Given the description of an element on the screen output the (x, y) to click on. 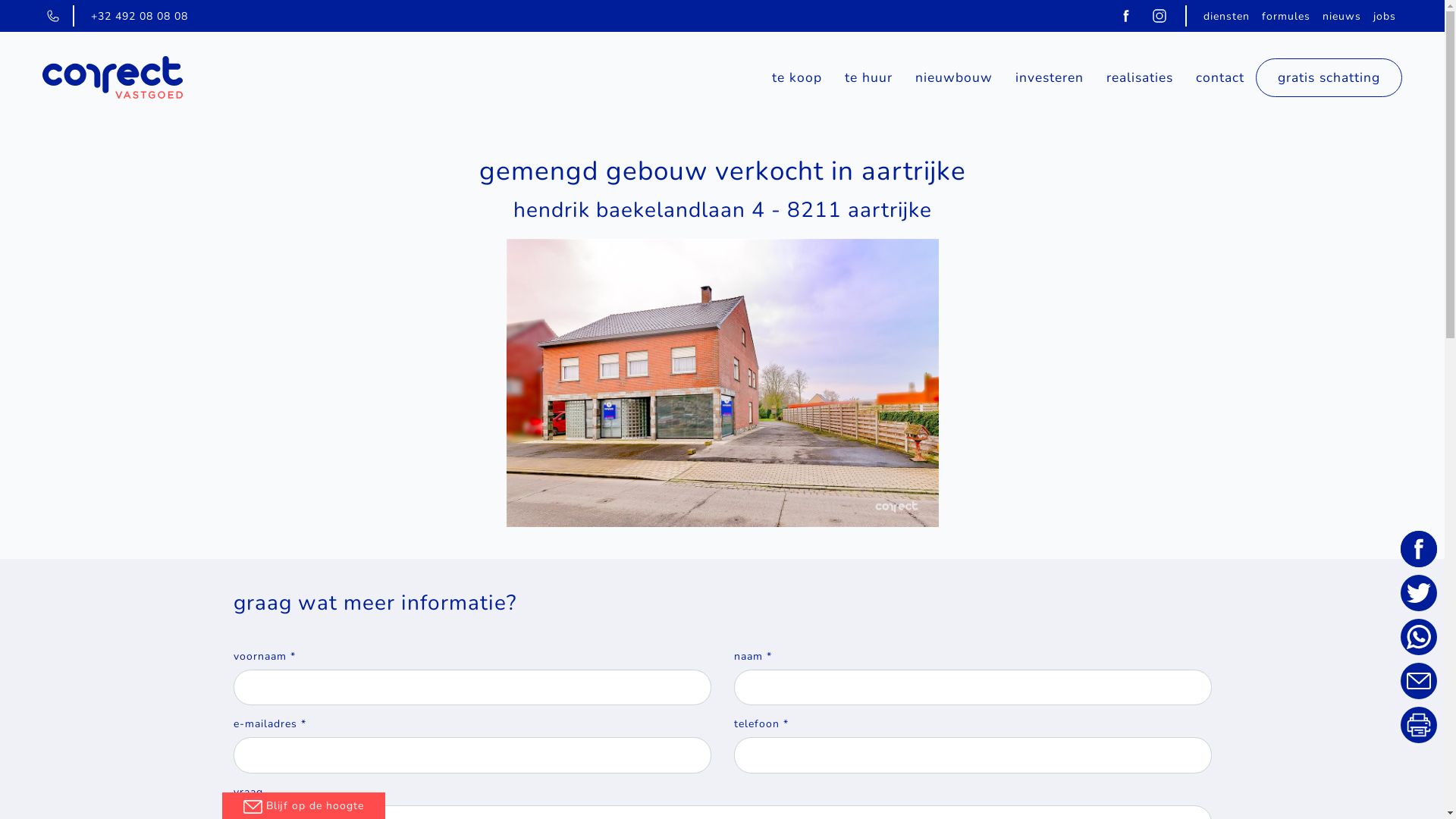
diensten Element type: text (1226, 15)
te huur Element type: text (868, 77)
+32 492 08 08 08 Element type: text (139, 15)
nieuwbouw Element type: text (953, 77)
contact Element type: text (1219, 77)
gratis schatting Element type: text (1328, 77)
jobs Element type: text (1384, 15)
investeren Element type: text (1049, 77)
Delen via Email Element type: hover (1418, 680)
Delen op Facebook Element type: hover (1418, 548)
Afdrukken Element type: hover (1418, 724)
Delen via WhatsApp Element type: hover (1418, 636)
Correct Vastgoed homepagina Element type: hover (112, 77)
te koop Element type: text (796, 77)
Instagram Correct Vastgoed Element type: hover (1159, 14)
formules Element type: text (1285, 15)
nieuws Element type: text (1341, 15)
Facebook Correct Vastgoed Element type: hover (1125, 14)
realisaties Element type: text (1139, 77)
Delen op Twitter Element type: hover (1418, 592)
